Given the description of an element on the screen output the (x, y) to click on. 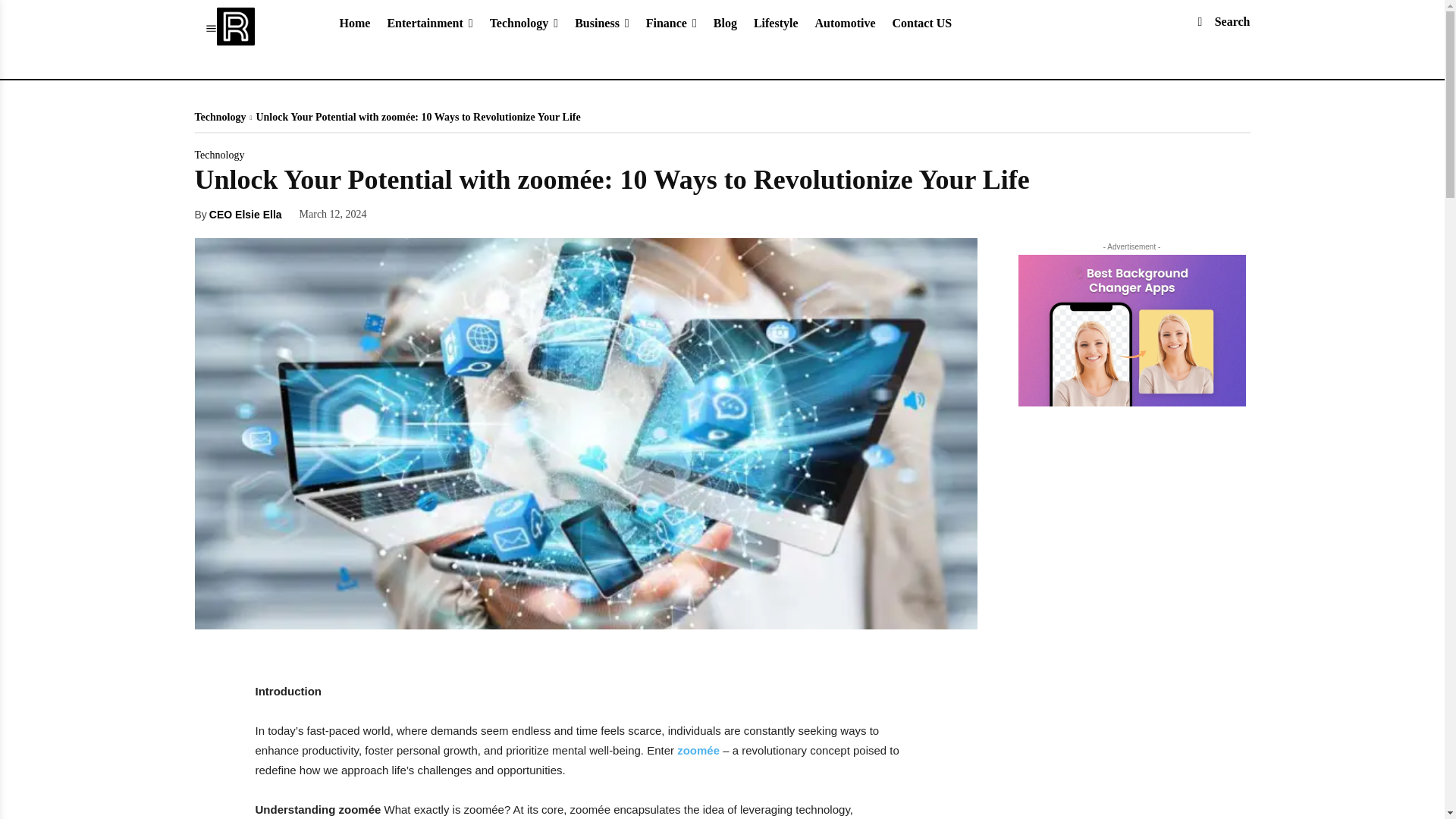
Entertainment (429, 22)
Technology (524, 22)
Home (354, 22)
